Given the description of an element on the screen output the (x, y) to click on. 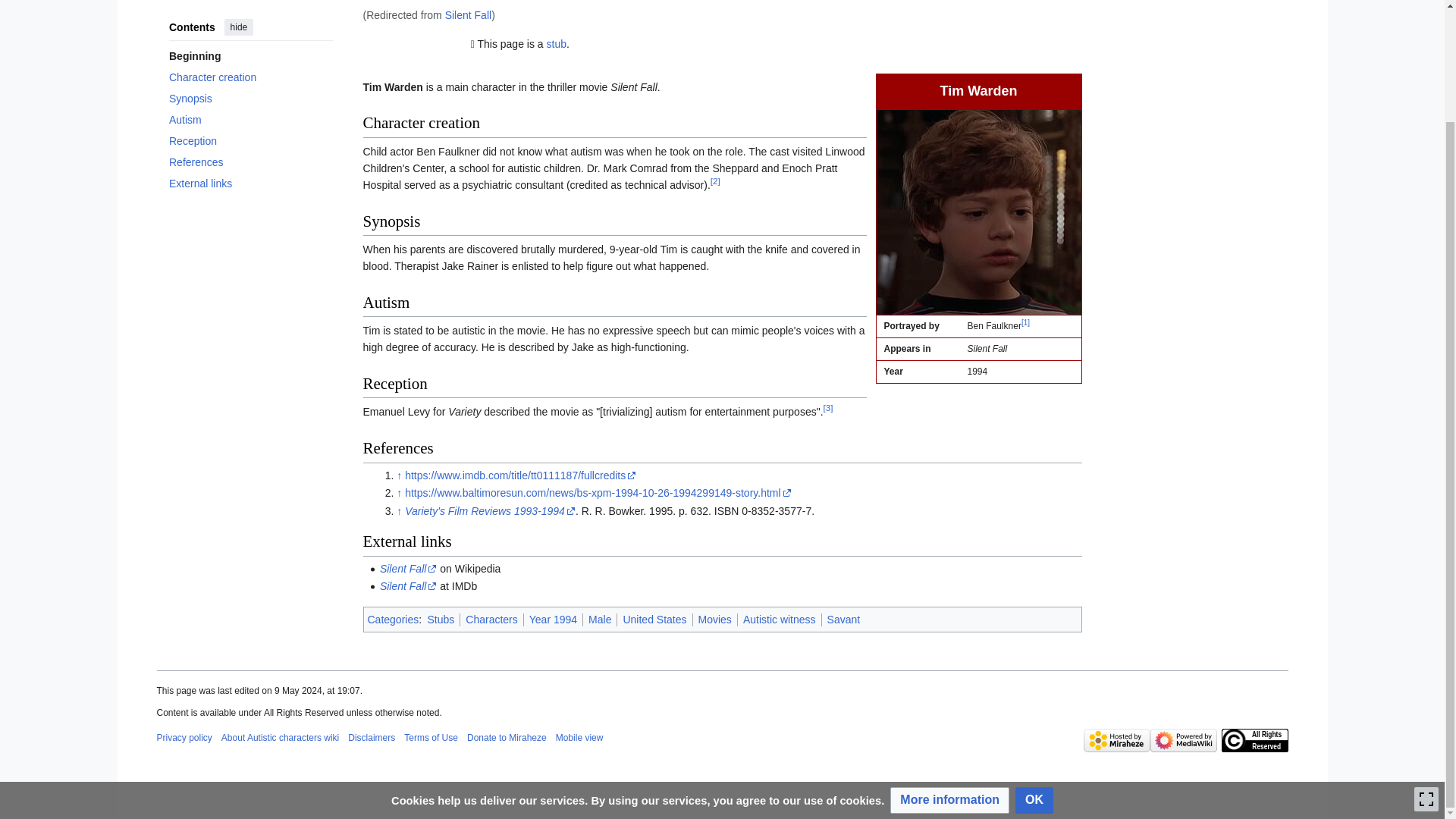
Synopsis (249, 51)
Beginning (249, 9)
Reception (249, 93)
External links (249, 136)
Autism (249, 72)
References (249, 115)
Character creation (249, 29)
